Given the description of an element on the screen output the (x, y) to click on. 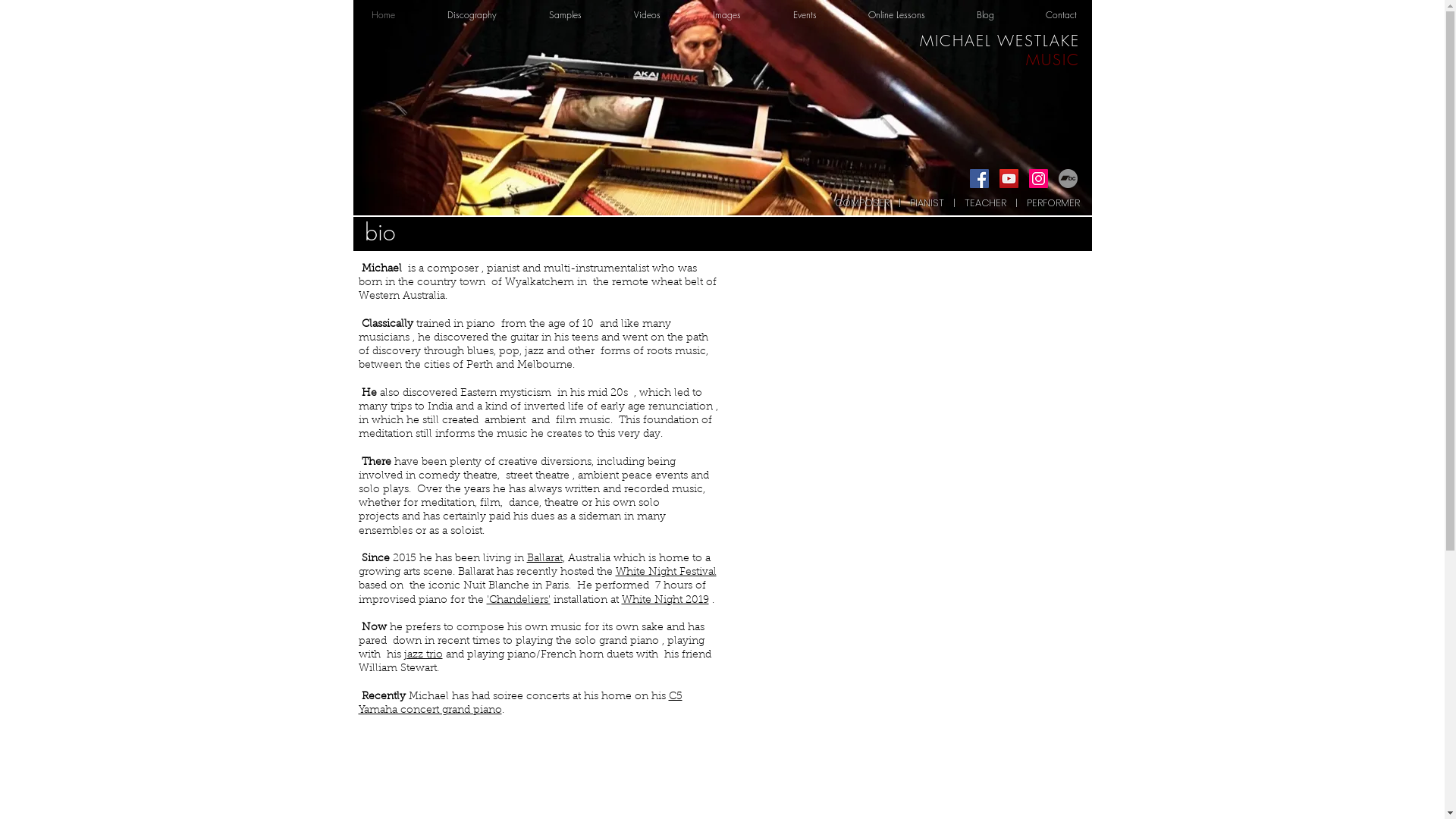
Online Lessons Element type: text (910, 15)
Blog Element type: text (998, 15)
MICHAEL WESTLAKE Element type: text (999, 40)
'Chandeliers' Element type: text (518, 599)
Events Element type: text (818, 15)
MUSIC Element type: text (1052, 59)
jazz trio Element type: text (422, 654)
Samples Element type: text (578, 15)
White Night 2019 Element type: text (665, 599)
Contact Element type: text (1075, 15)
Ballarat Element type: text (543, 558)
Home Element type: text (397, 15)
C5 Yamaha concert grand piano Element type: text (519, 703)
White Night Festival Element type: text (665, 572)
Videos Element type: text (660, 15)
Discography Element type: text (485, 15)
Images Element type: text (740, 15)
